Given the description of an element on the screen output the (x, y) to click on. 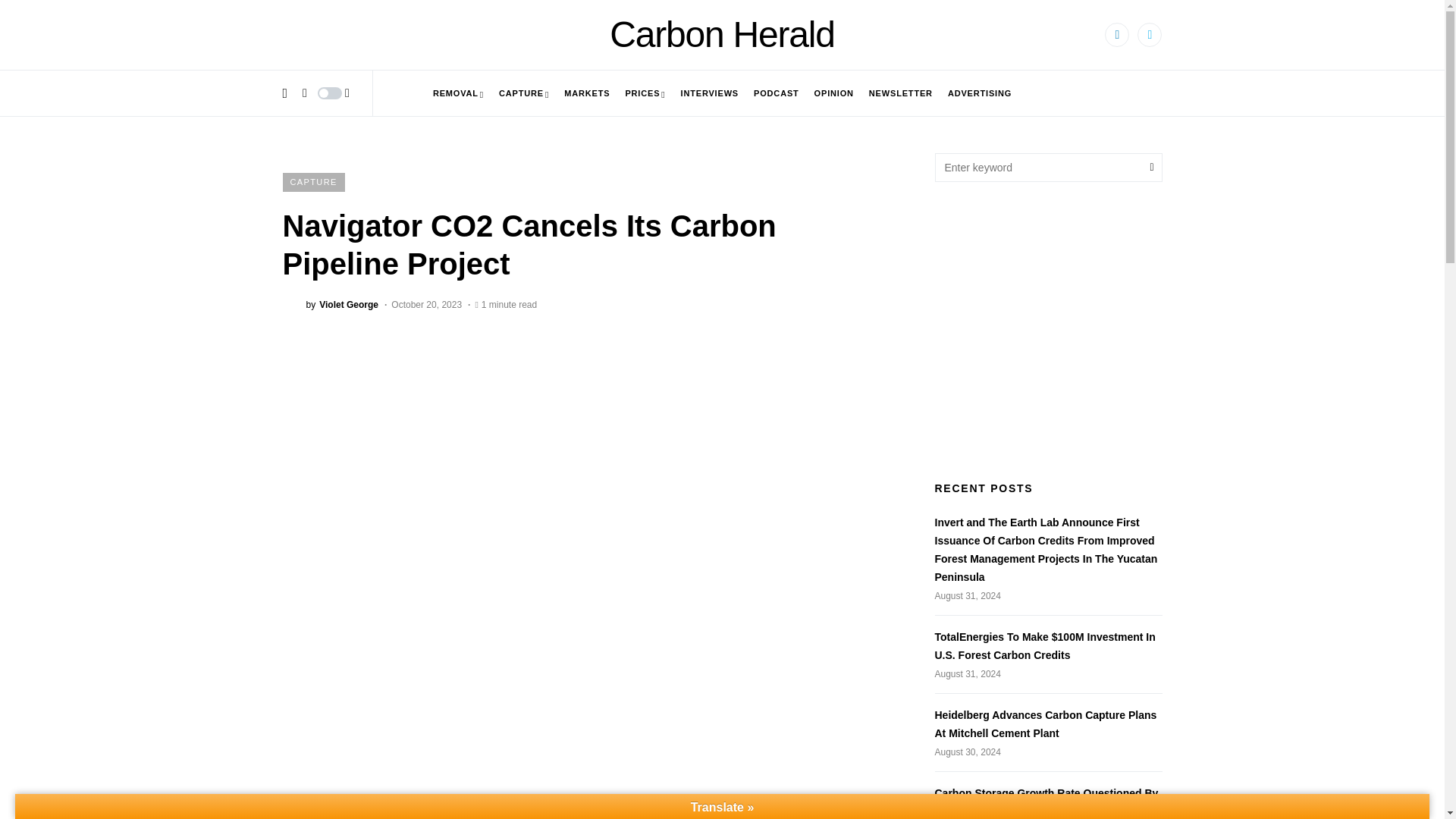
Carbon Herald (722, 34)
REMOVAL (457, 93)
View all posts by Violet George (330, 303)
